Given the description of an element on the screen output the (x, y) to click on. 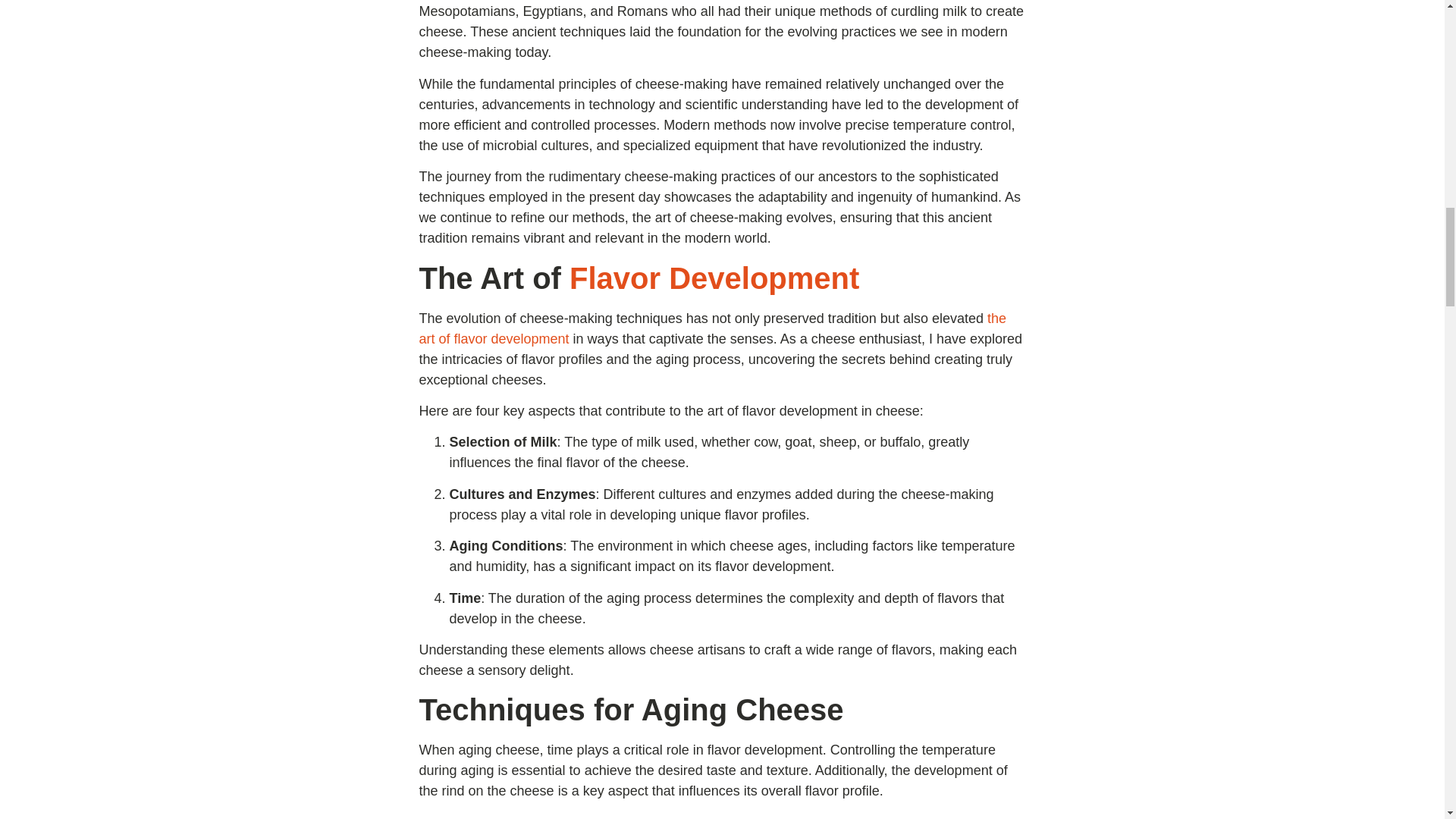
the art of flavor development (712, 328)
Flavor Development (714, 277)
